Given the description of an element on the screen output the (x, y) to click on. 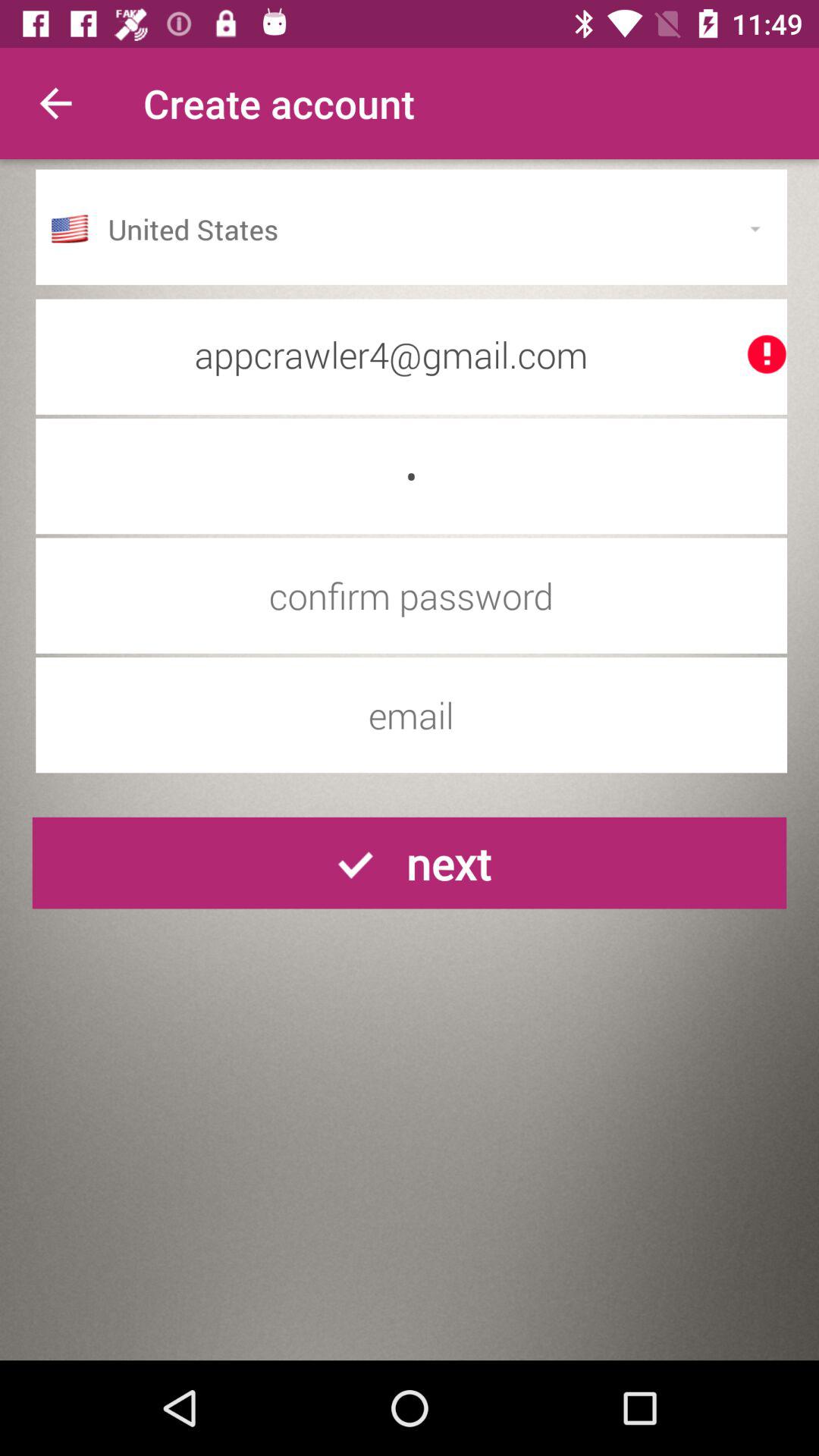
enter password again (411, 595)
